Given the description of an element on the screen output the (x, y) to click on. 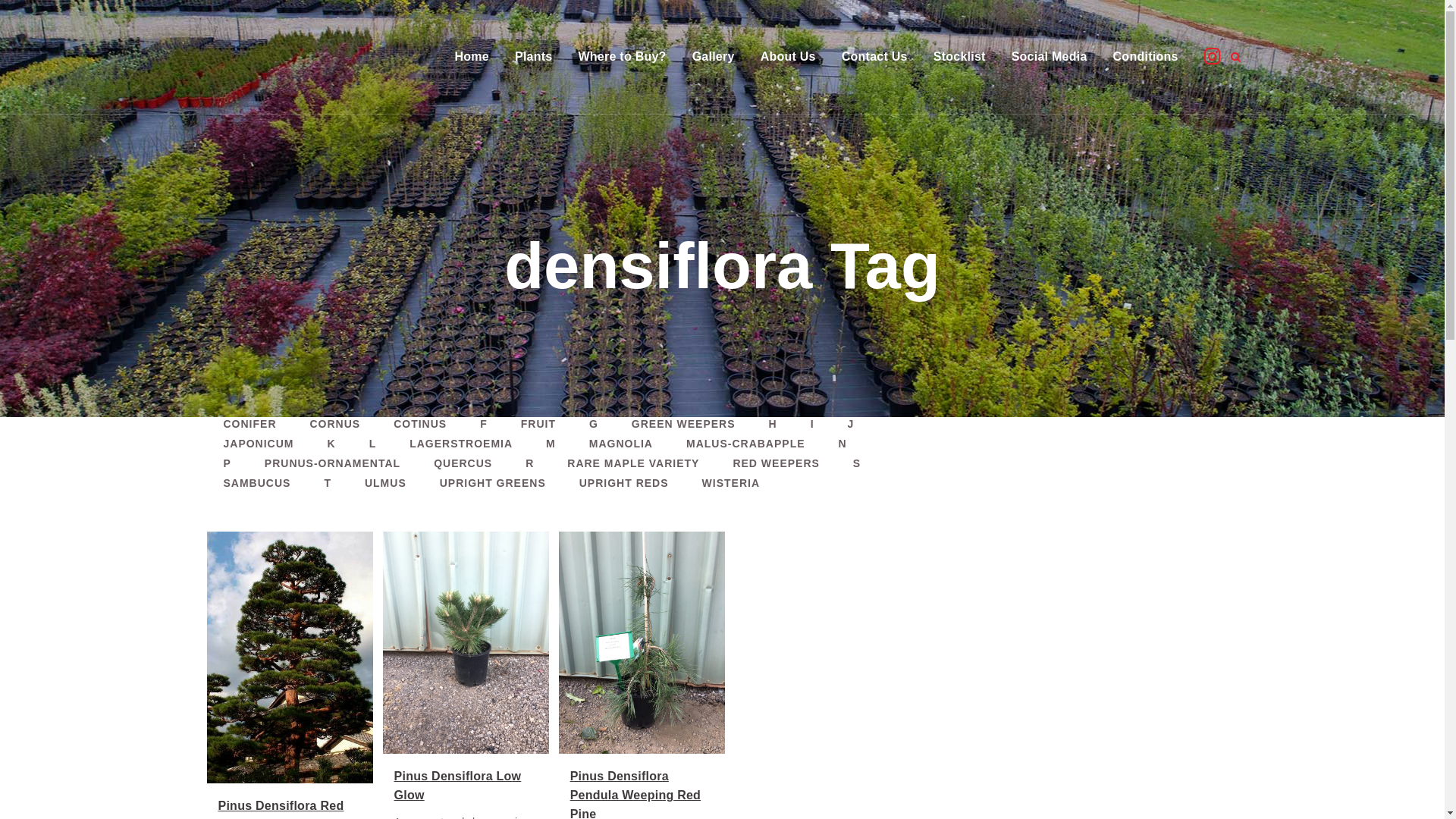
Contact Us Element type: text (874, 56)
Social Media Element type: text (1049, 56)
Conditions Element type: text (1145, 56)
Plants Element type: text (533, 56)
Pinus Densiflora Low Glow Element type: text (457, 784)
Home Element type: text (472, 56)
About Us Element type: text (787, 56)
Pinus densiflora Red Pine Element type: hover (289, 657)
Where to Buy? Element type: text (621, 56)
Pinus densiflora pendula Weeping Red Pine Element type: hover (641, 642)
Stocklist Element type: text (959, 56)
Pinus densiflora Low Glow Element type: hover (465, 642)
Gallery Element type: text (713, 56)
